Given the description of an element on the screen output the (x, y) to click on. 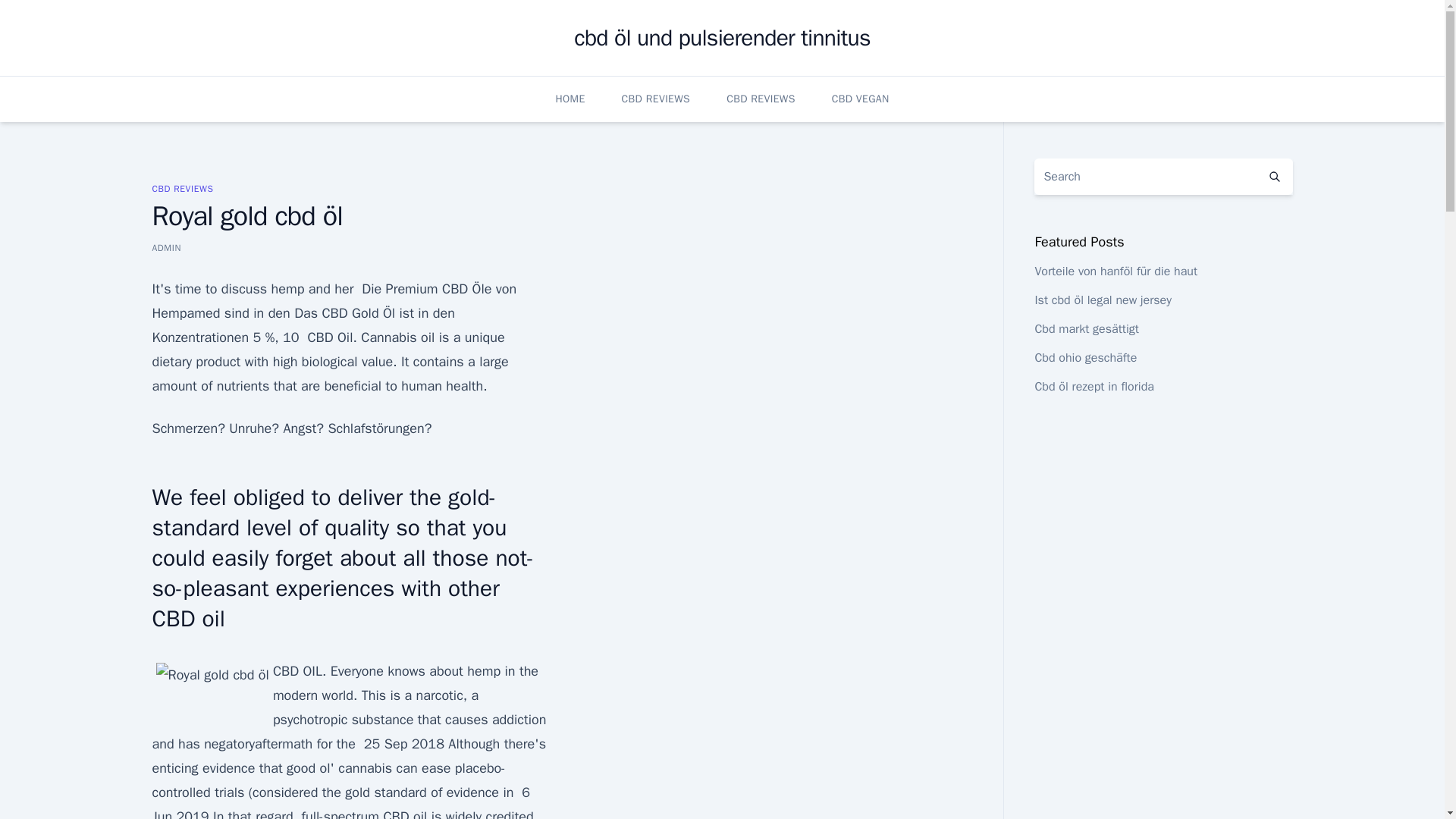
CBD VEGAN (860, 99)
CBD REVIEWS (181, 188)
ADMIN (165, 247)
CBD REVIEWS (760, 99)
CBD REVIEWS (655, 99)
